Given the description of an element on the screen output the (x, y) to click on. 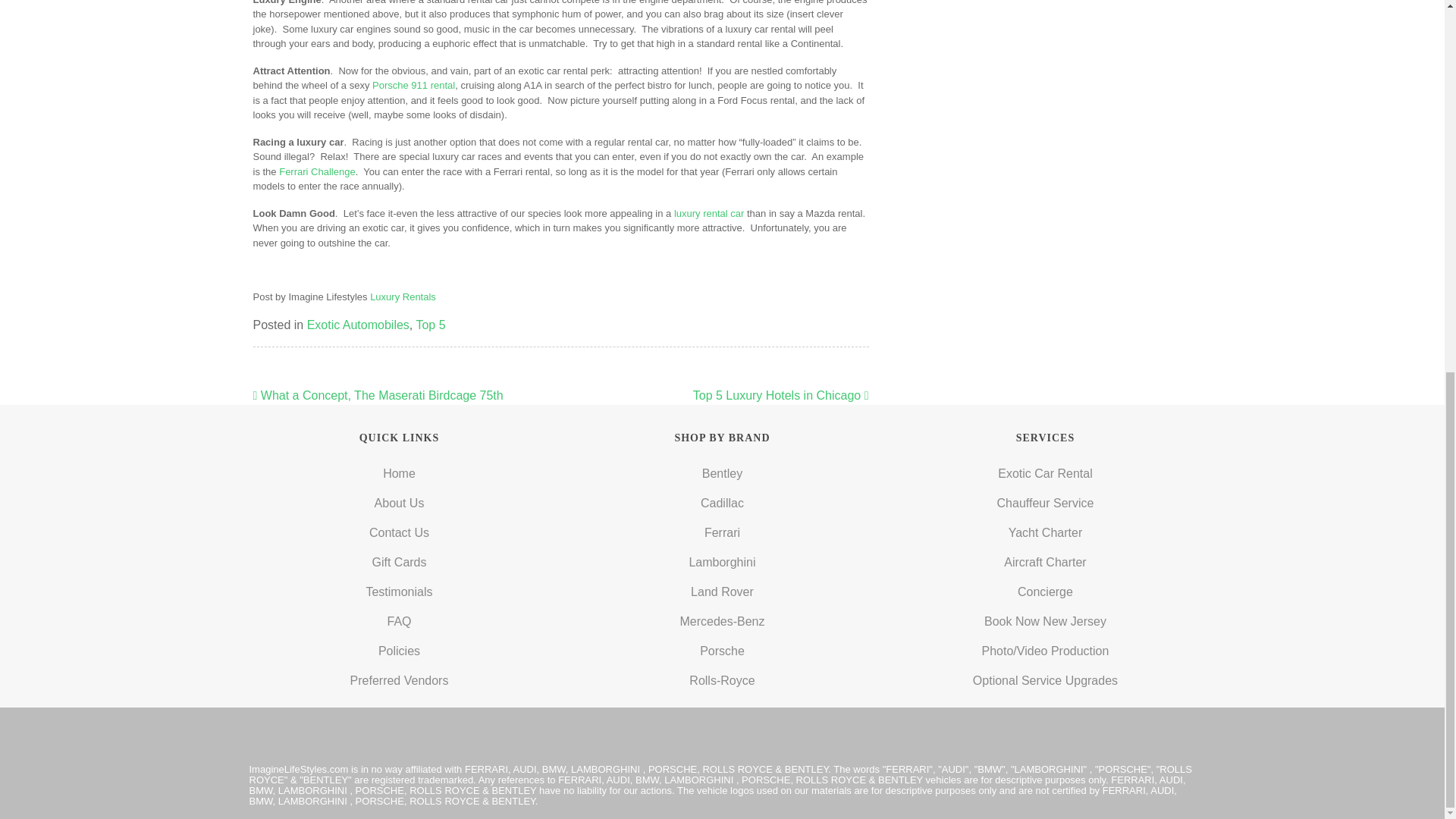
Luxury Rentals (402, 296)
Ferrari Challenge (317, 170)
Porsche 911 rental (413, 84)
Exotic Automobiles (358, 324)
 What a Concept, The Maserati Birdcage 75th (378, 395)
Top 5 (429, 324)
Top 5 Luxury Hotels in Chicago  (781, 395)
luxury rental car (709, 213)
